Given the description of an element on the screen output the (x, y) to click on. 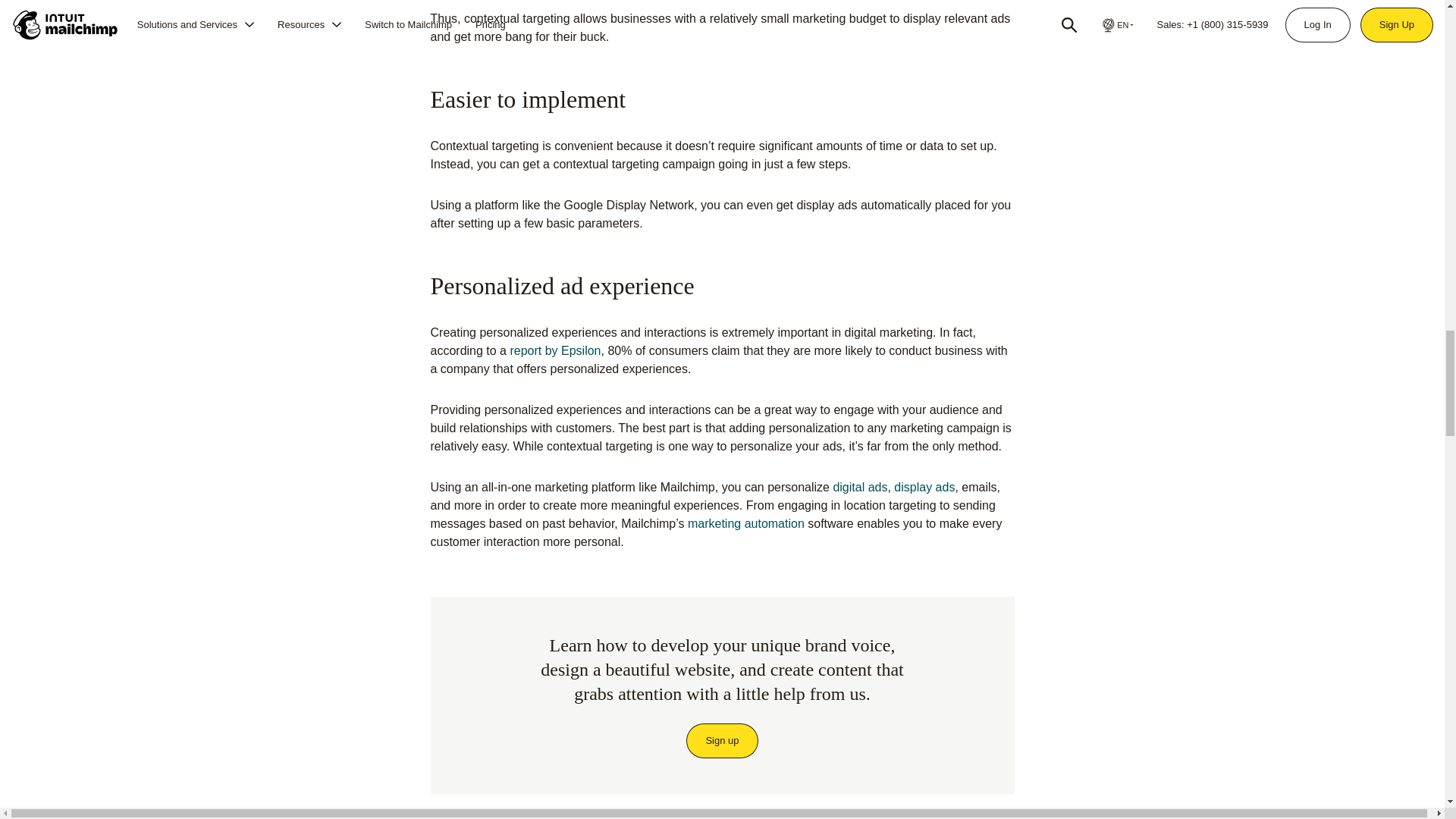
digital ads (859, 486)
report by Epsilon (554, 350)
marketing automation (746, 522)
Sign up (722, 740)
display ads (924, 486)
